Given the description of an element on the screen output the (x, y) to click on. 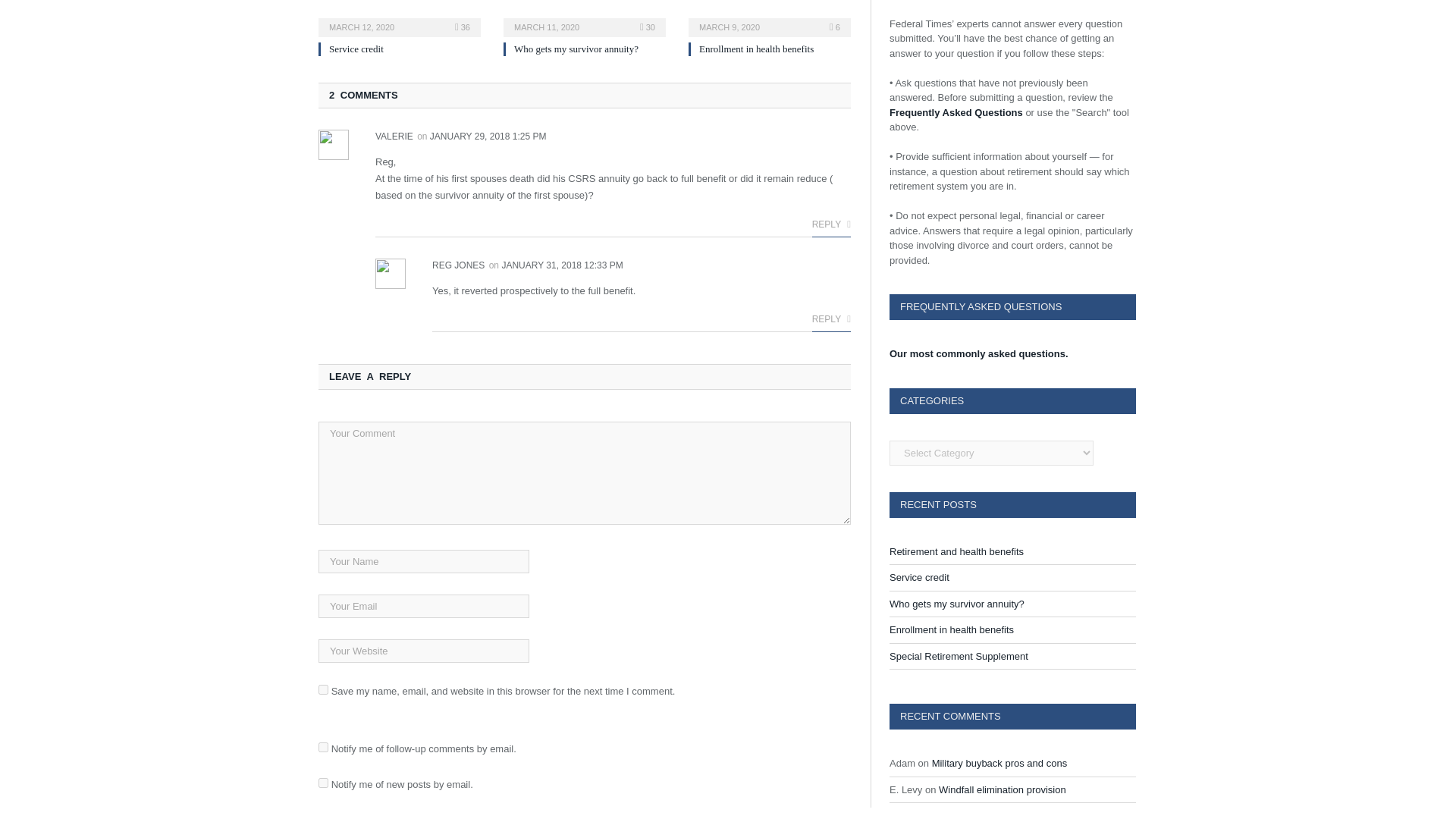
yes (323, 689)
Post Comment (790, 816)
subscribe (323, 782)
subscribe (323, 747)
